Given the description of an element on the screen output the (x, y) to click on. 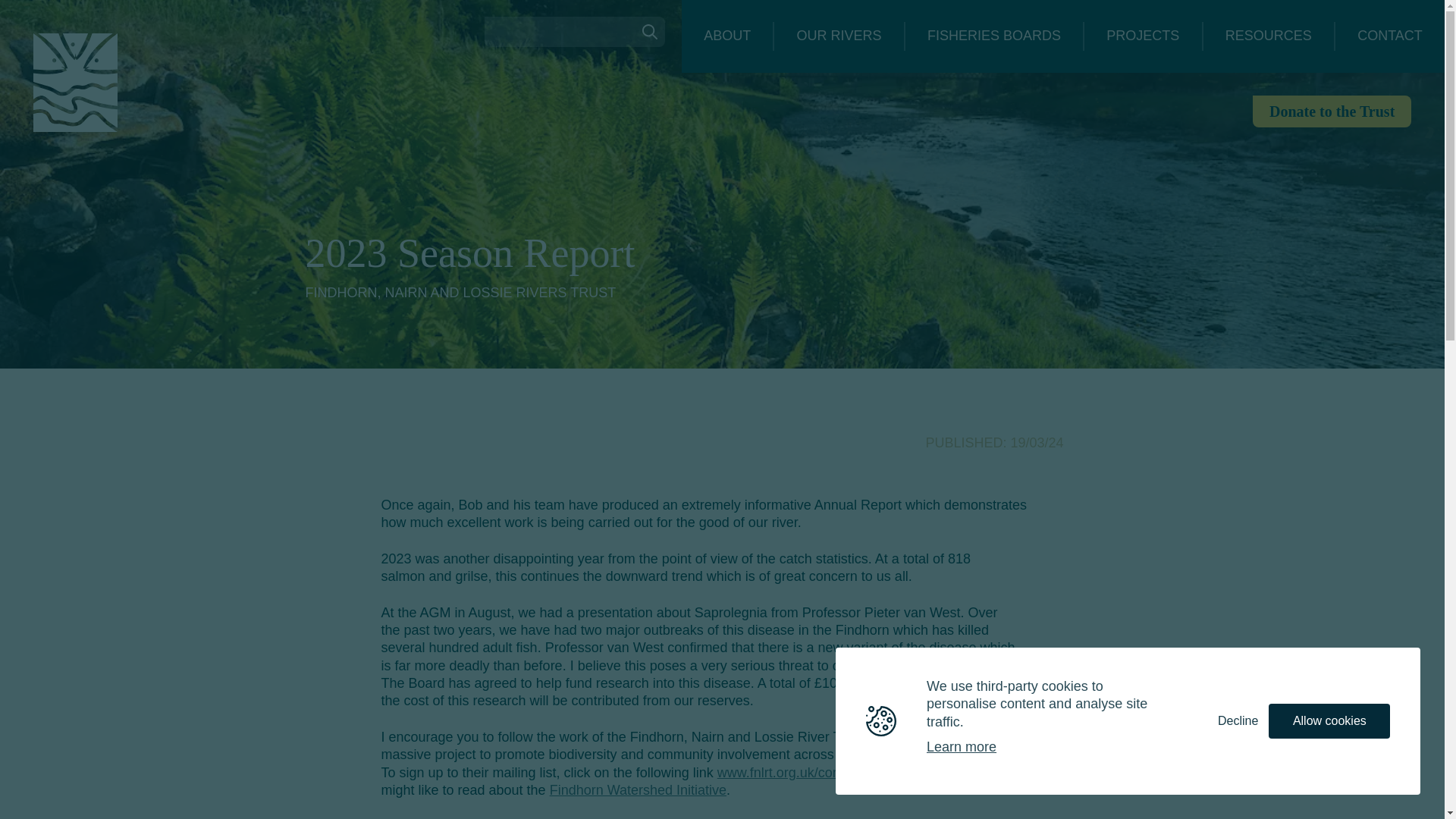
RESOURCES (1268, 36)
PROJECTS (1142, 36)
Read more about the cookies used (960, 747)
OUR RIVERS (838, 36)
FISHERIES BOARDS (994, 36)
ABOUT (727, 36)
Search (649, 31)
Donate to the Trust (1331, 111)
Findhorn Watershed Initiative (638, 789)
